Given the description of an element on the screen output the (x, y) to click on. 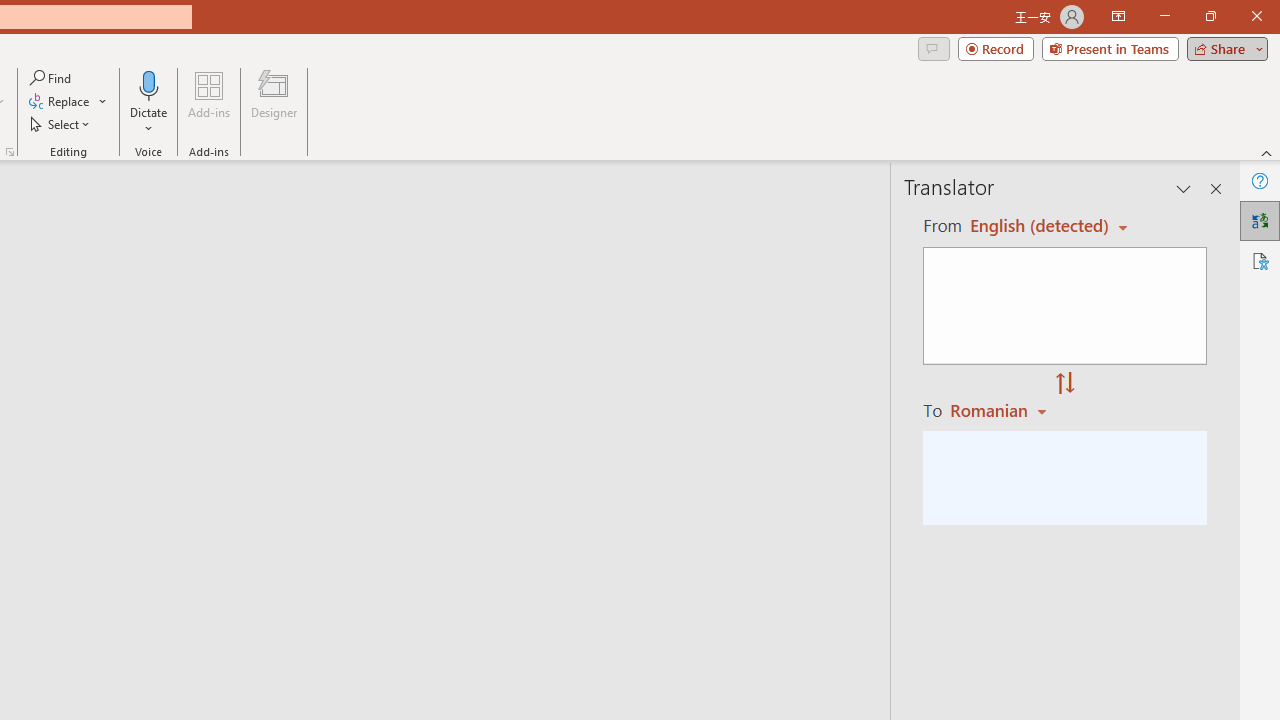
Swap "from" and "to" languages. (1065, 383)
Find... (51, 78)
Format Object... (9, 151)
Accessibility (1260, 260)
Czech (detected) (1039, 225)
Dictate (149, 84)
Translator (1260, 220)
Close pane (1215, 188)
Dictate (149, 102)
